Given the description of an element on the screen output the (x, y) to click on. 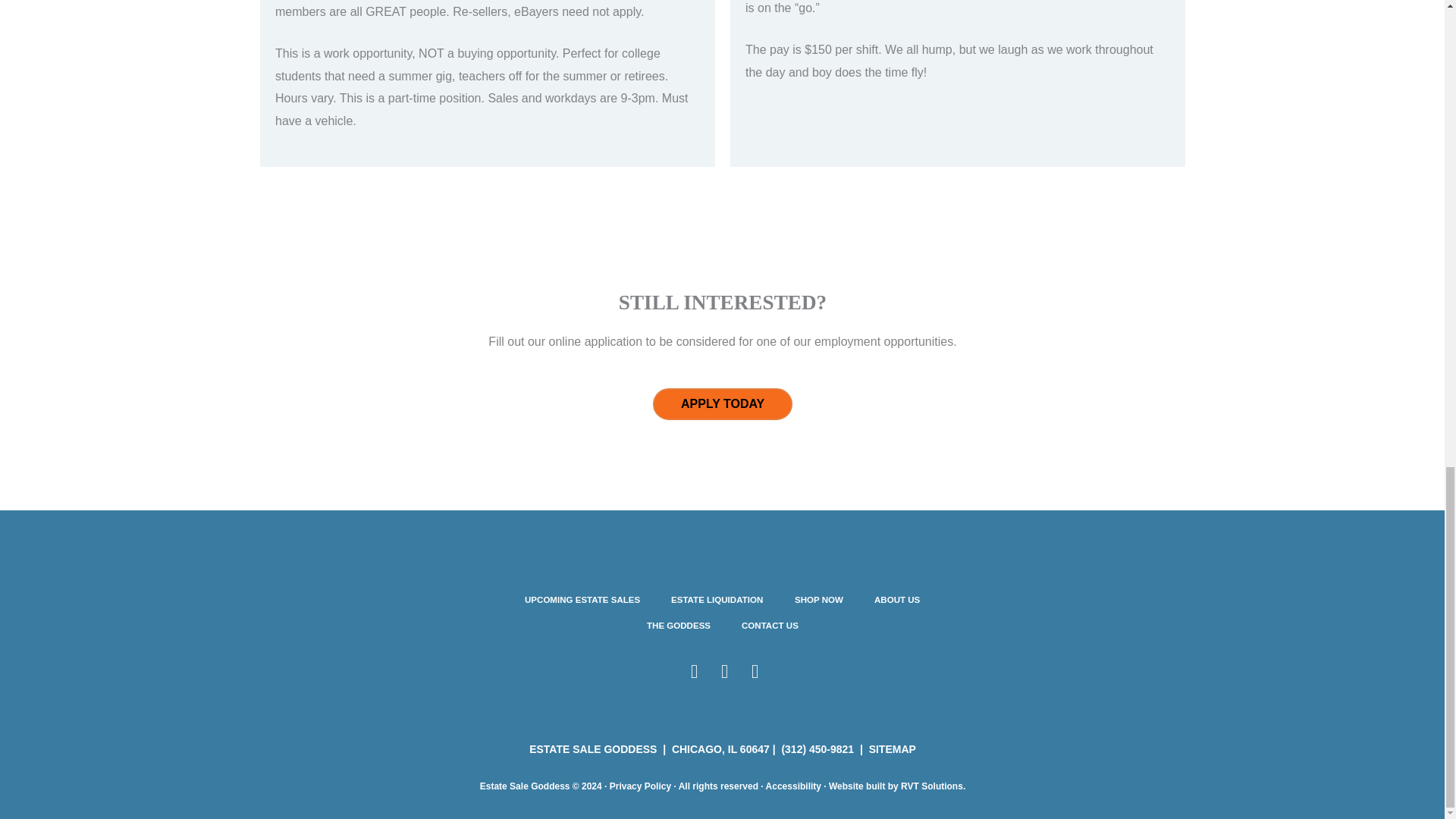
Facebook (693, 670)
Estate Sale Goddess Circle Logo (351, 631)
Acna White Logo X (1092, 631)
Instagram (723, 670)
Vinyl Scroll Ornament Pattern (721, 262)
TikTok (753, 670)
